Given the description of an element on the screen output the (x, y) to click on. 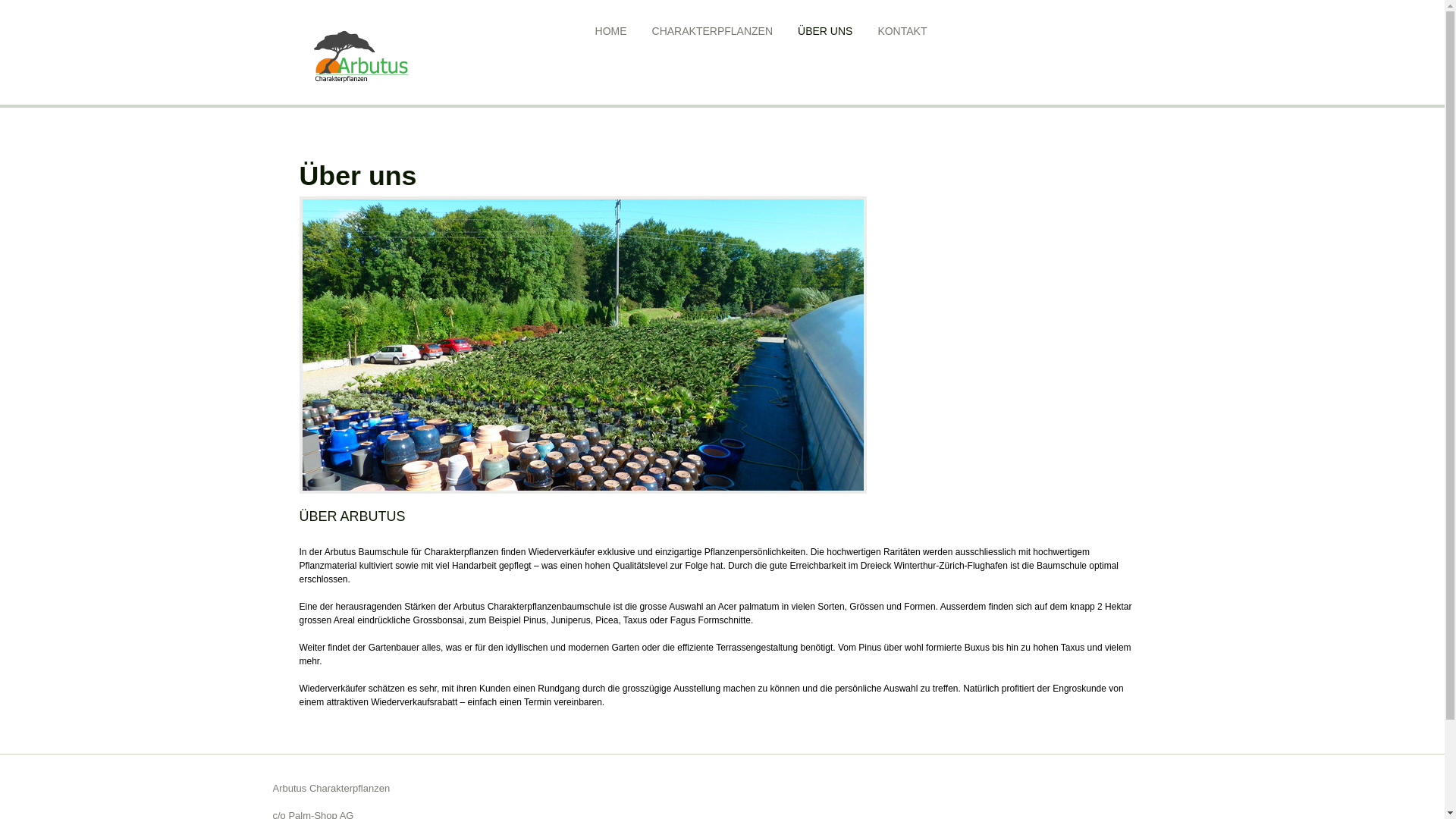
KONTAKT Element type: text (901, 30)
CHARAKTERPFLANZEN Element type: text (712, 30)
HOME Element type: text (611, 30)
